Given the description of an element on the screen output the (x, y) to click on. 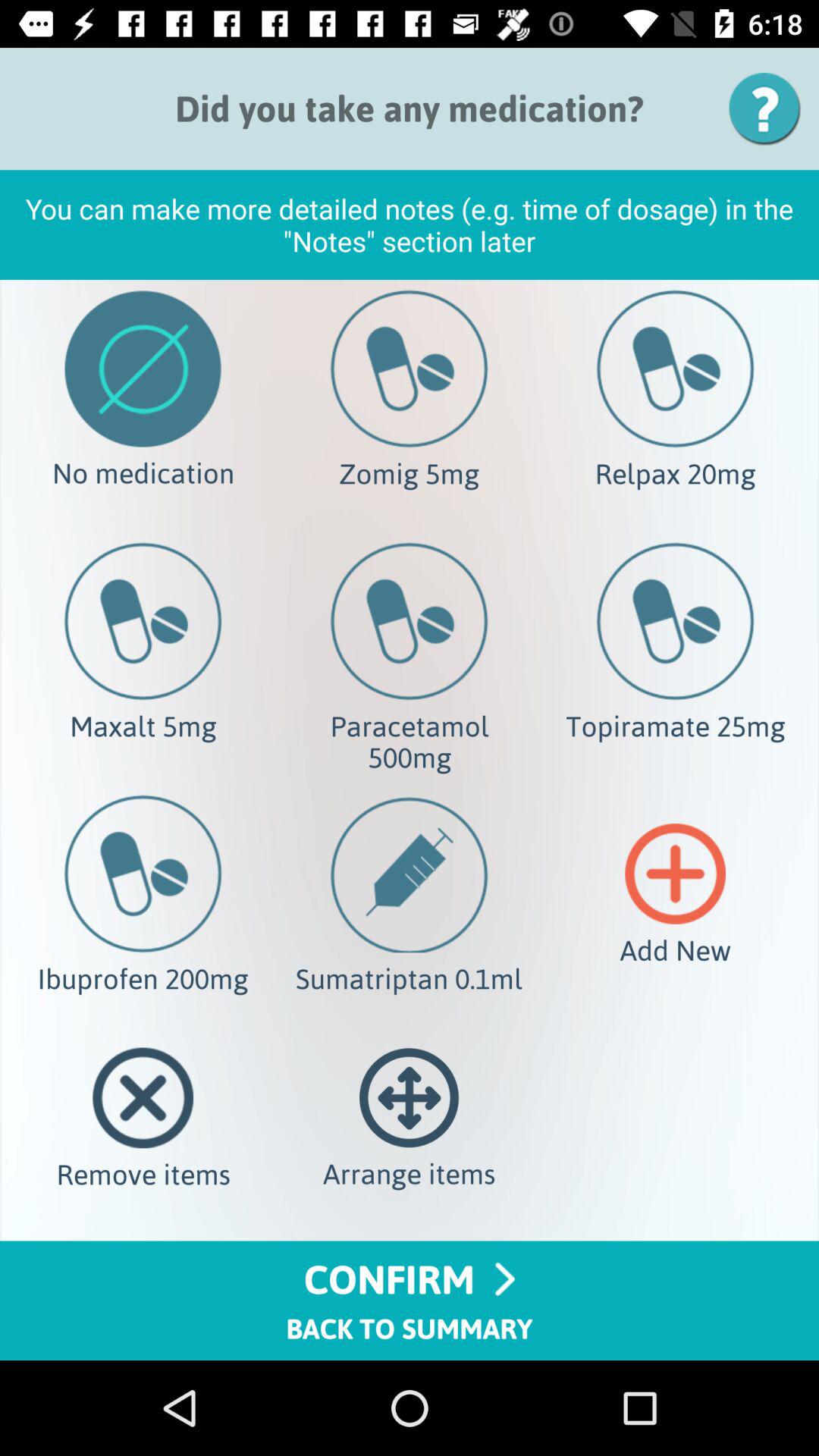
open help (769, 108)
